Given the description of an element on the screen output the (x, y) to click on. 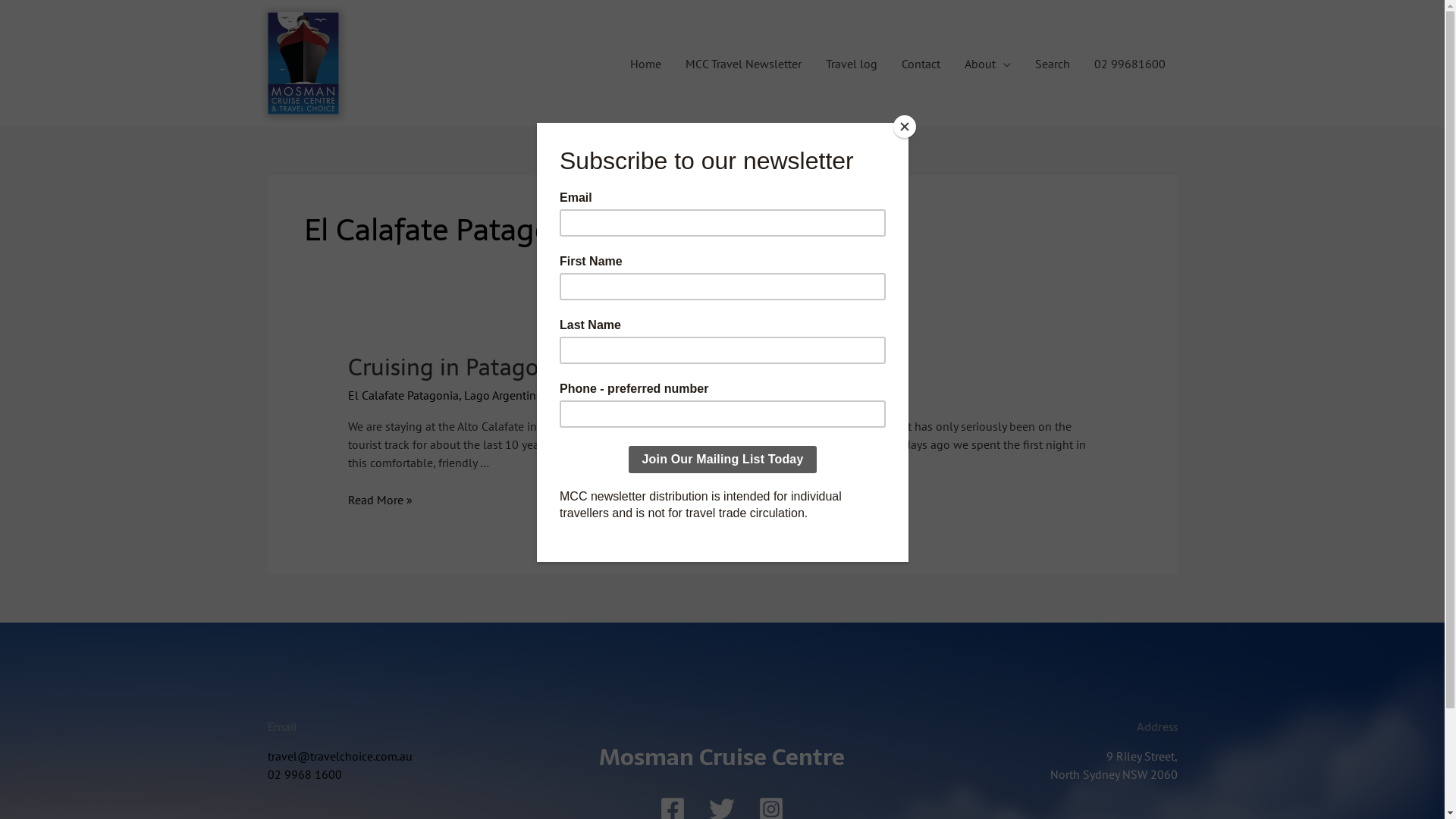
El Calafate Patagonia Element type: text (403, 394)
02 99681600 Element type: text (1128, 62)
Cruising in Patagonia Element type: text (459, 366)
MCC Travel Newsletter Element type: text (743, 62)
About Element type: text (987, 62)
Search Element type: text (1051, 62)
Perito Moreno glacier Element type: text (603, 394)
Home Element type: text (644, 62)
Contact Element type: text (919, 62)
Lago Argentino Element type: text (503, 394)
Travel log Element type: text (850, 62)
02 9968 1600 Element type: text (303, 773)
travel@travelchoice.com.au Element type: text (338, 755)
mosmancr Element type: text (710, 394)
